Given the description of an element on the screen output the (x, y) to click on. 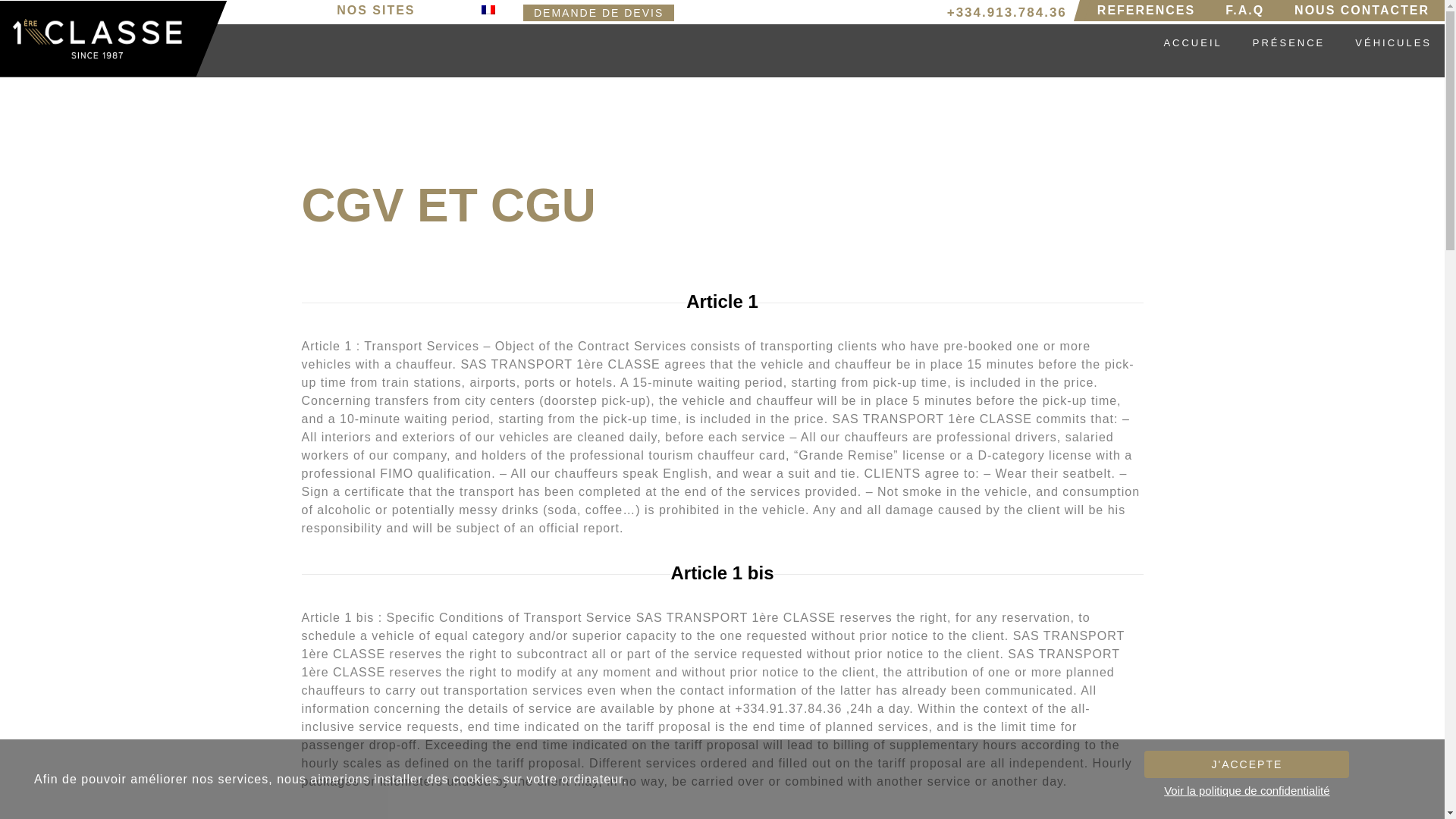
ACCUEIL Element type: text (1189, 43)
+334.913.784.36 Element type: text (1006, 12)
NOS SITES Element type: text (379, 10)
F.A.Q Element type: text (1244, 10)
J'ACCEPTE Element type: text (1246, 764)
NOUS CONTACTER Element type: text (1361, 10)
REFERENCES Element type: text (1146, 10)
DEMANDE DE DEVIS Element type: text (598, 12)
